Given the description of an element on the screen output the (x, y) to click on. 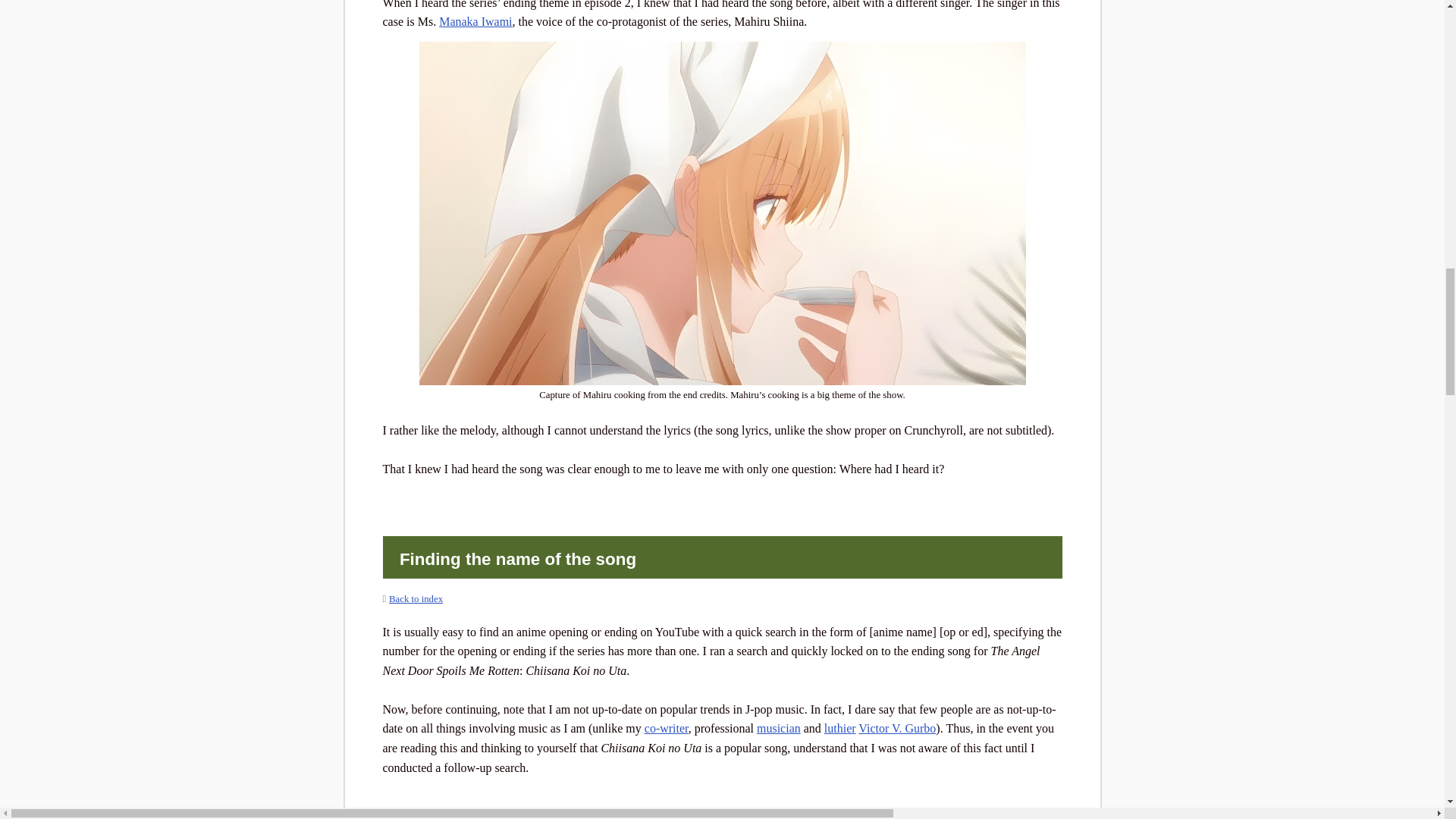
Back to index (415, 598)
Manaka Iwami (475, 21)
luthier (840, 727)
co-writer (666, 727)
Victor V. Gurbo (897, 727)
musician (778, 727)
